Given the description of an element on the screen output the (x, y) to click on. 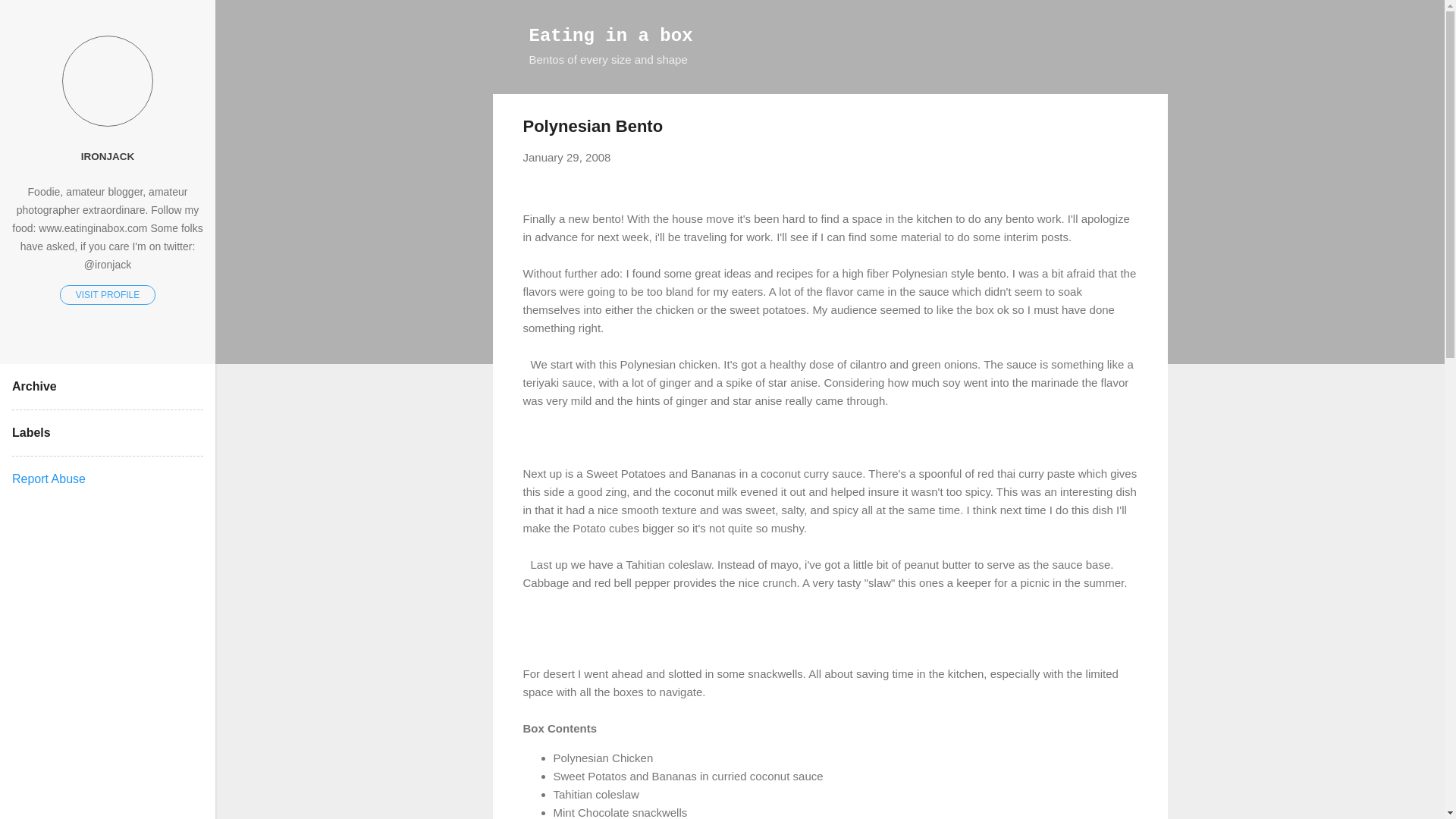
Eating in a box (611, 35)
permanent link (566, 156)
Search (29, 18)
January 29, 2008 (566, 156)
